Given the description of an element on the screen output the (x, y) to click on. 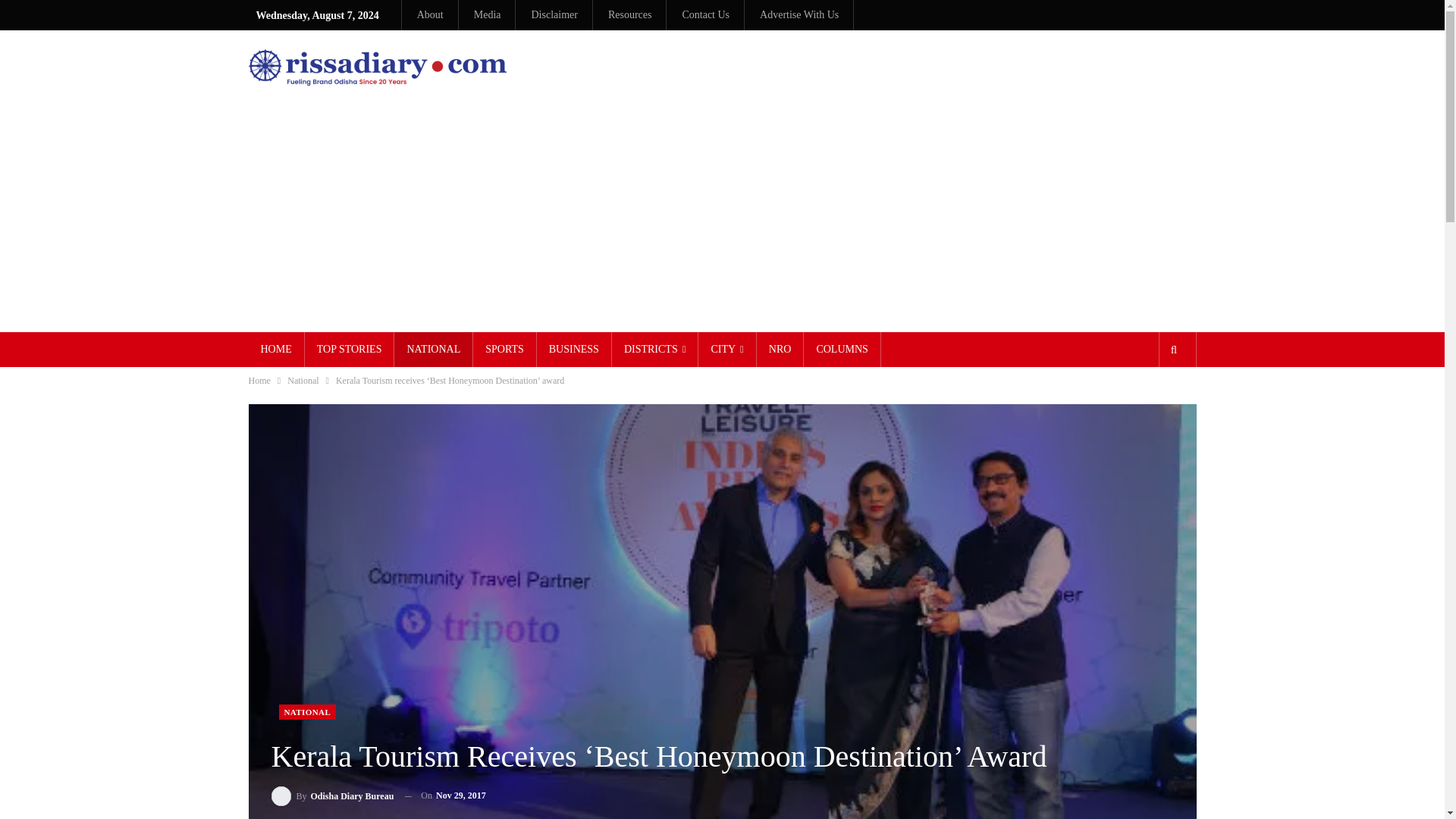
Media (487, 14)
Contact Us (705, 14)
About (430, 14)
SPORTS (504, 349)
Browse Author Articles (332, 795)
NATIONAL (432, 349)
Resources (630, 14)
BUSINESS (574, 349)
DISTRICTS (654, 349)
Advertise With Us (799, 14)
Disclaimer (553, 14)
TOP STORIES (349, 349)
HOME (276, 349)
